Given the description of an element on the screen output the (x, y) to click on. 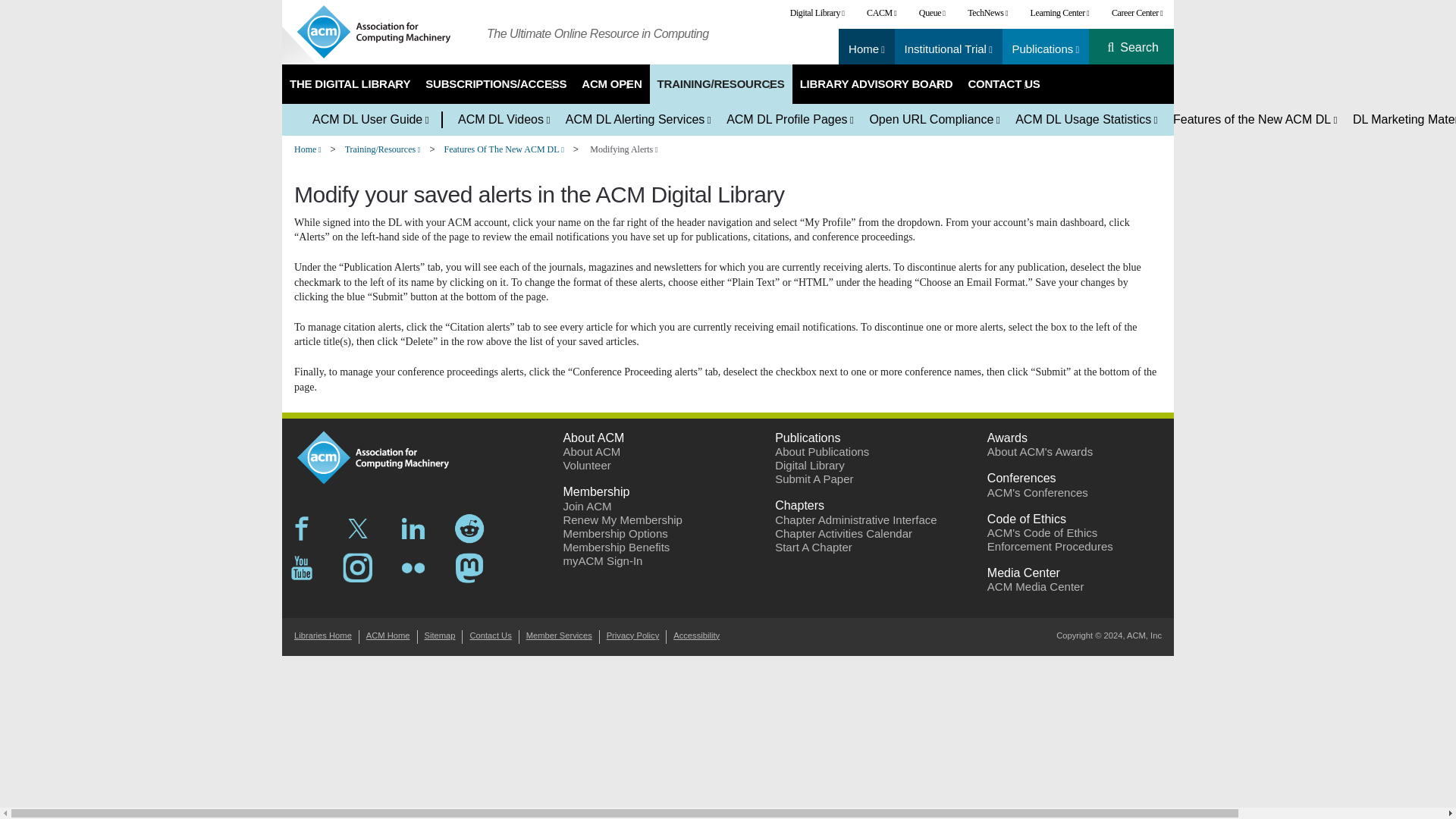
Search (1138, 47)
Home (384, 31)
CACM (881, 13)
Digital Library (817, 13)
Digital Library (817, 13)
CACM (881, 13)
Search (1138, 47)
THE DIGITAL LIBRARY (349, 84)
Queue (931, 13)
Home (866, 48)
TechNews (986, 13)
Institutional Trial (948, 48)
Queue (931, 13)
TechNews (986, 13)
Career Center (1136, 13)
